Given the description of an element on the screen output the (x, y) to click on. 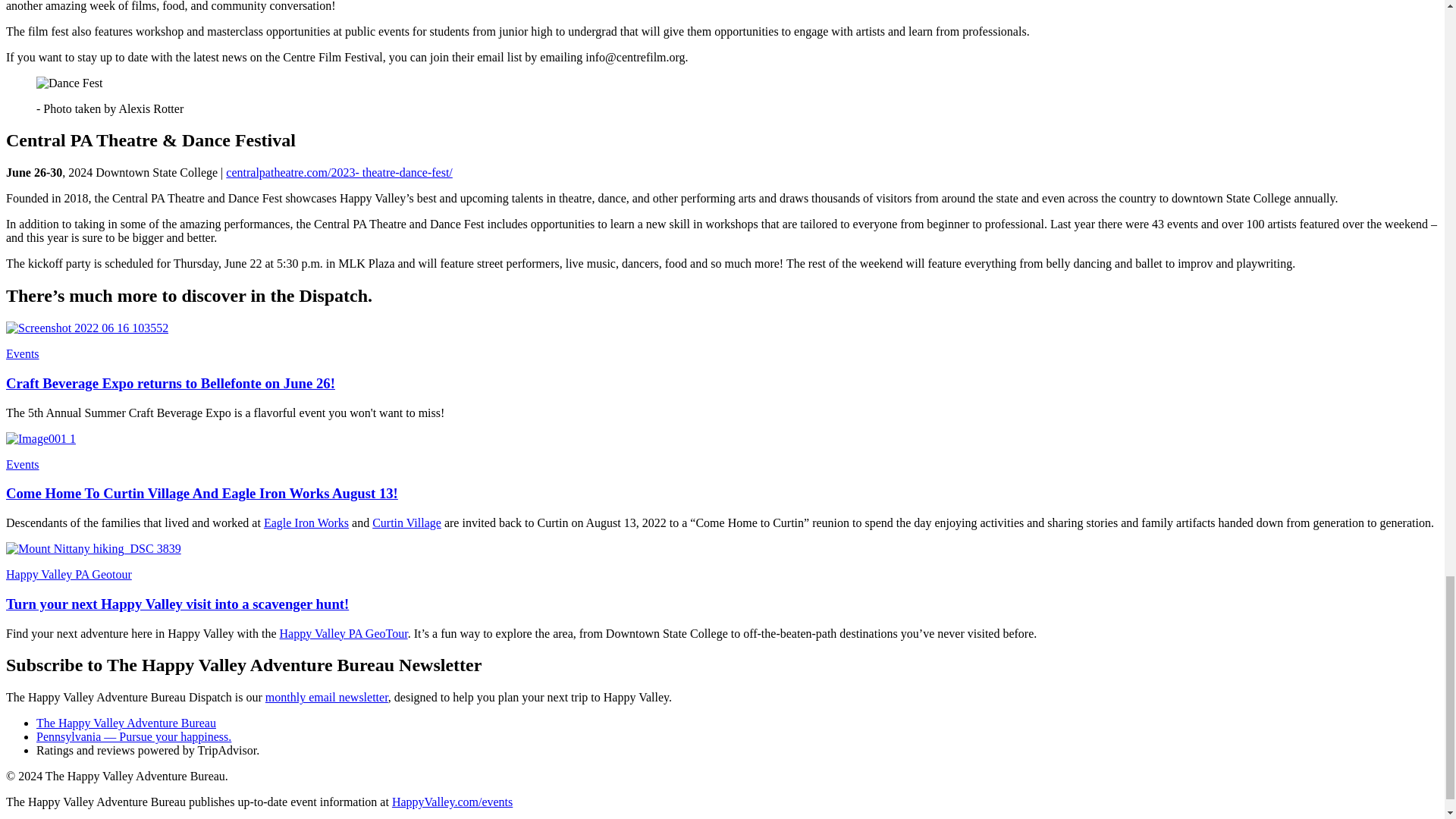
Happy Valley PA Geotour (68, 574)
Come Home To Curtin Village And Eagle Iron Works August 13! (201, 493)
Craft Beverage Expo returns to Bellefonte on June 26! (169, 383)
The Happy Valley Adventure Bureau (125, 722)
Curtin Village (406, 522)
Eagle Iron Works (306, 522)
Happy Valley PA GeoTour (343, 633)
Events (22, 463)
monthly email newsletter (326, 697)
Turn your next Happy Valley visit into a scavenger hunt! (177, 603)
Events (22, 353)
